Given the description of an element on the screen output the (x, y) to click on. 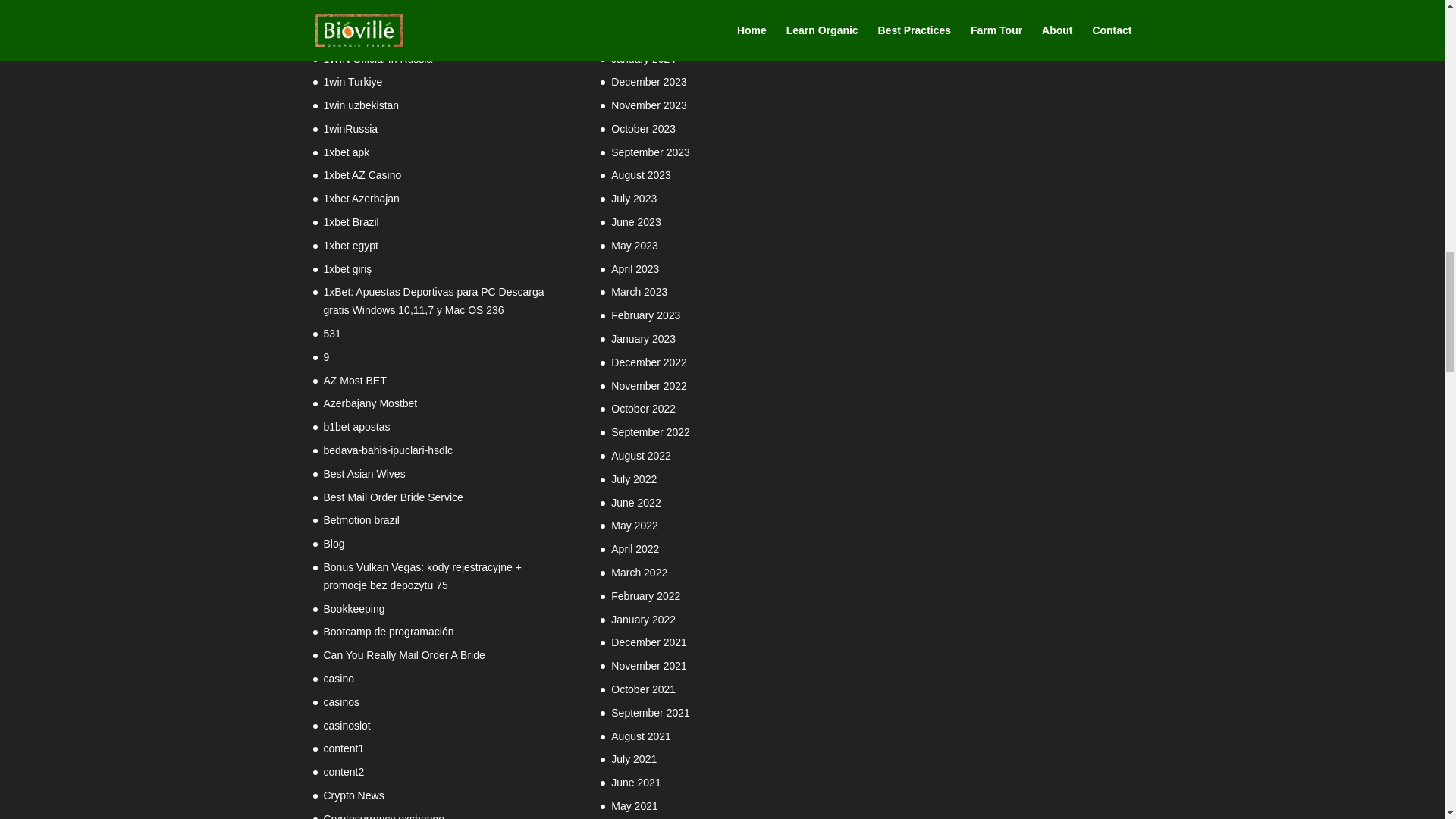
1Win Brasil (350, 11)
1win uzbekistan (360, 105)
1xbet Brazil (350, 222)
1xbet egypt (350, 245)
531 (331, 333)
1win Turkiye (352, 81)
1winRussia (350, 128)
1WIN Casino Brasil (368, 35)
1xbet apk (346, 152)
